Given the description of an element on the screen output the (x, y) to click on. 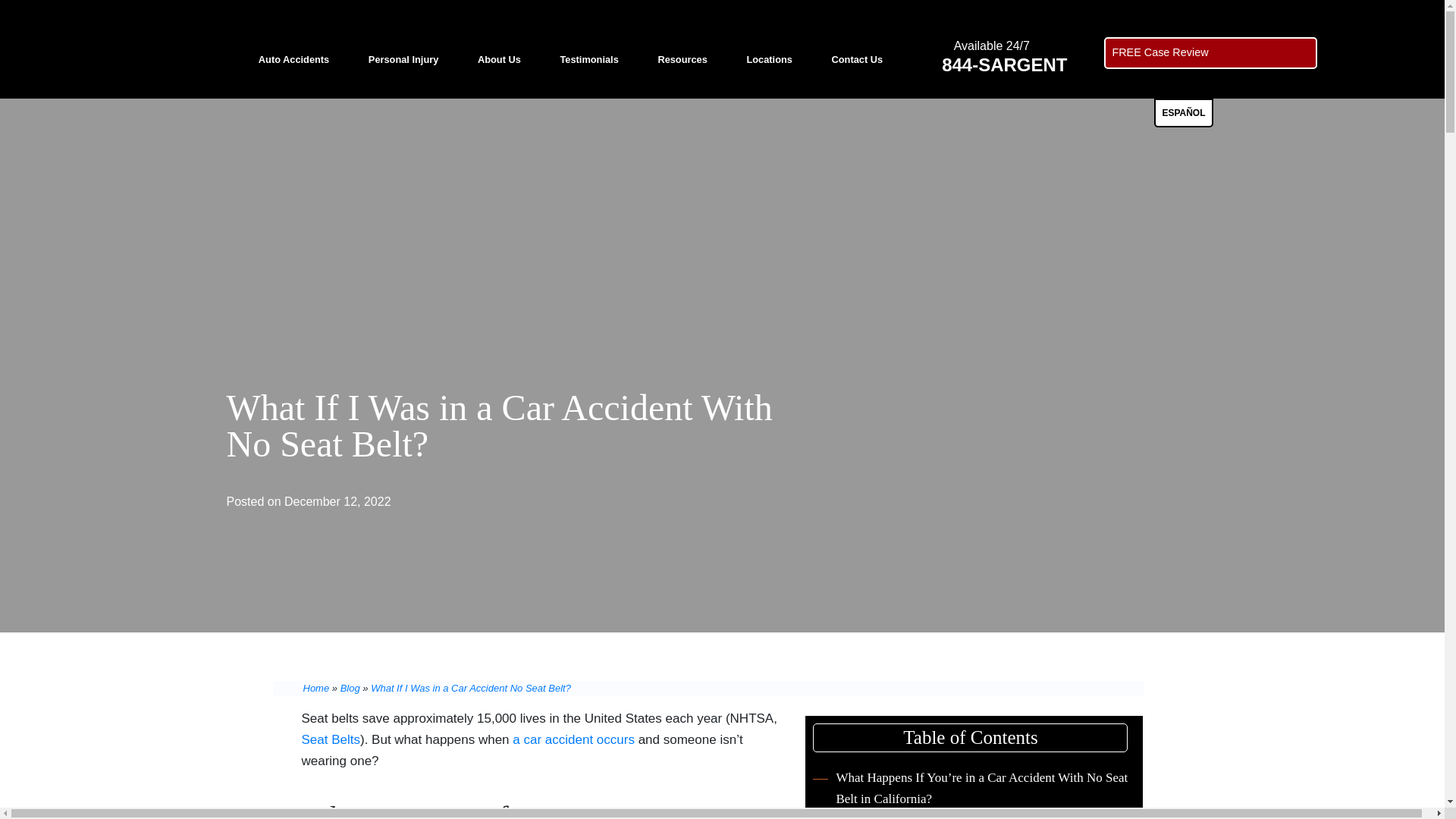
The Seat Belt Defense for Car Accidents (928, 817)
